Given the description of an element on the screen output the (x, y) to click on. 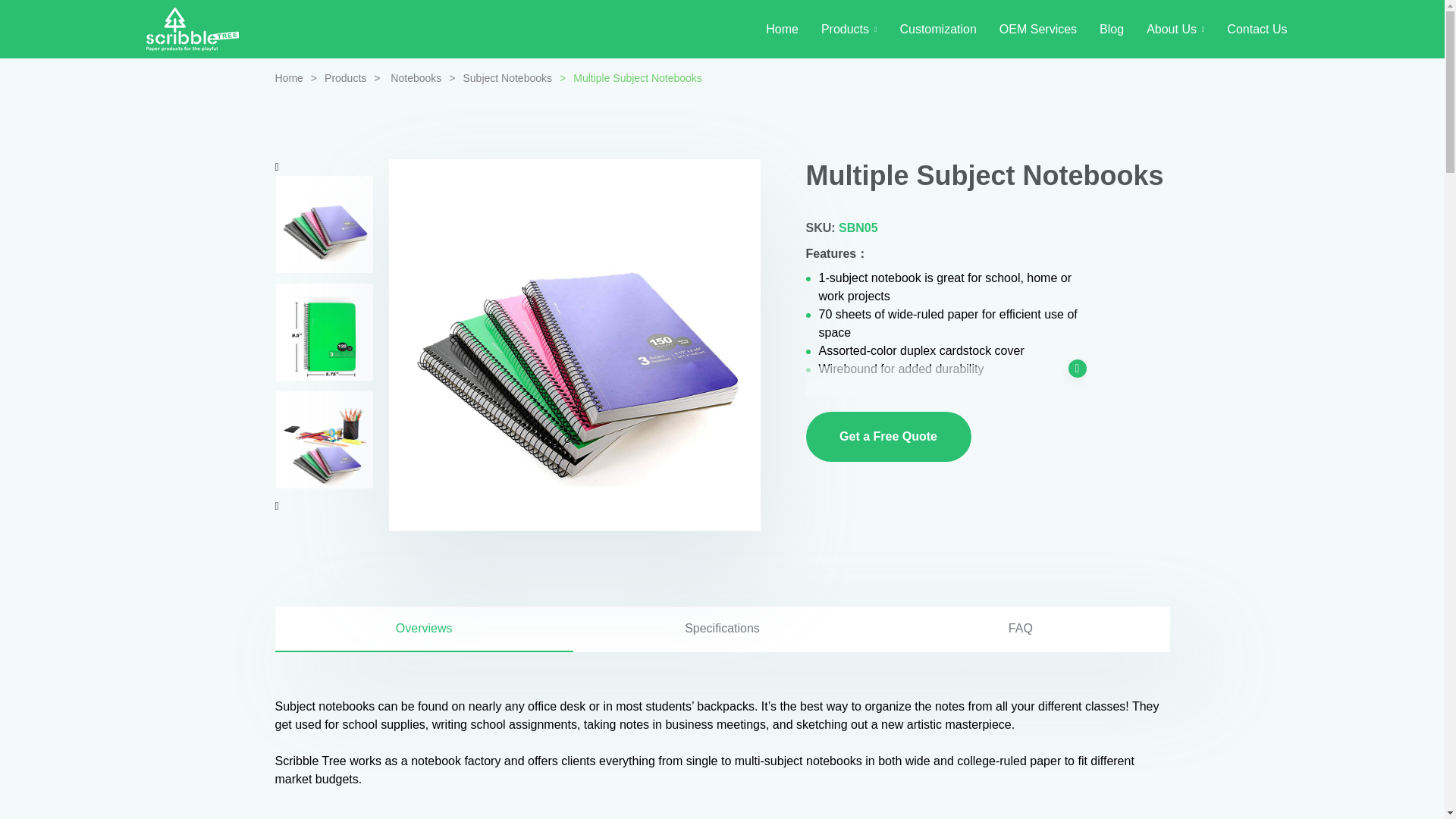
Blog (1111, 28)
Contact Us (1256, 28)
Customization (937, 28)
Products (848, 28)
About Us (1175, 28)
OEM Services (1037, 28)
Home (288, 78)
Home (781, 28)
